Given the description of an element on the screen output the (x, y) to click on. 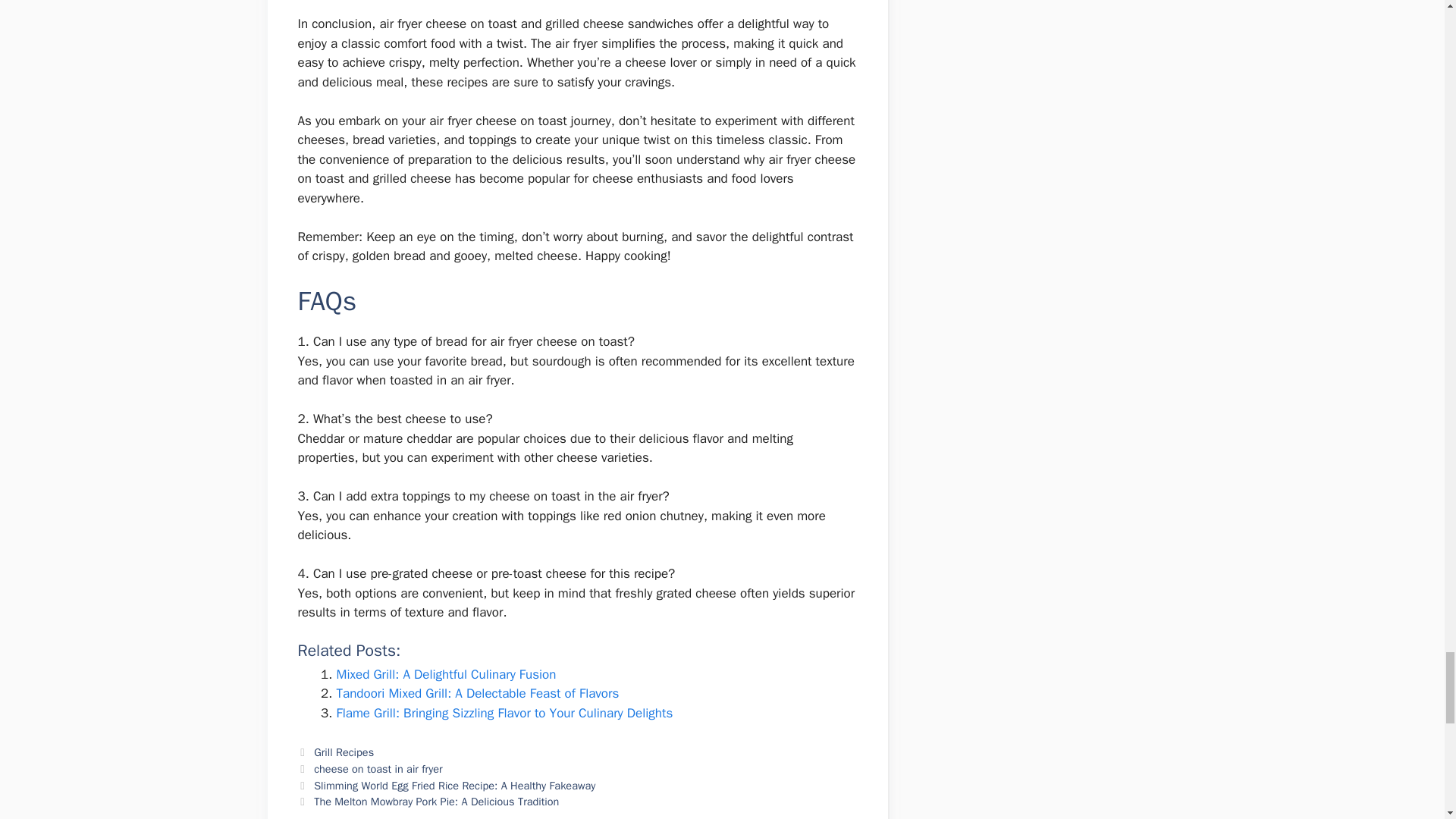
Mixed Grill: A Delightful Culinary Fusion (446, 674)
Tandoori Mixed Grill: A Delectable Feast of Flavors (478, 693)
